Given the description of an element on the screen output the (x, y) to click on. 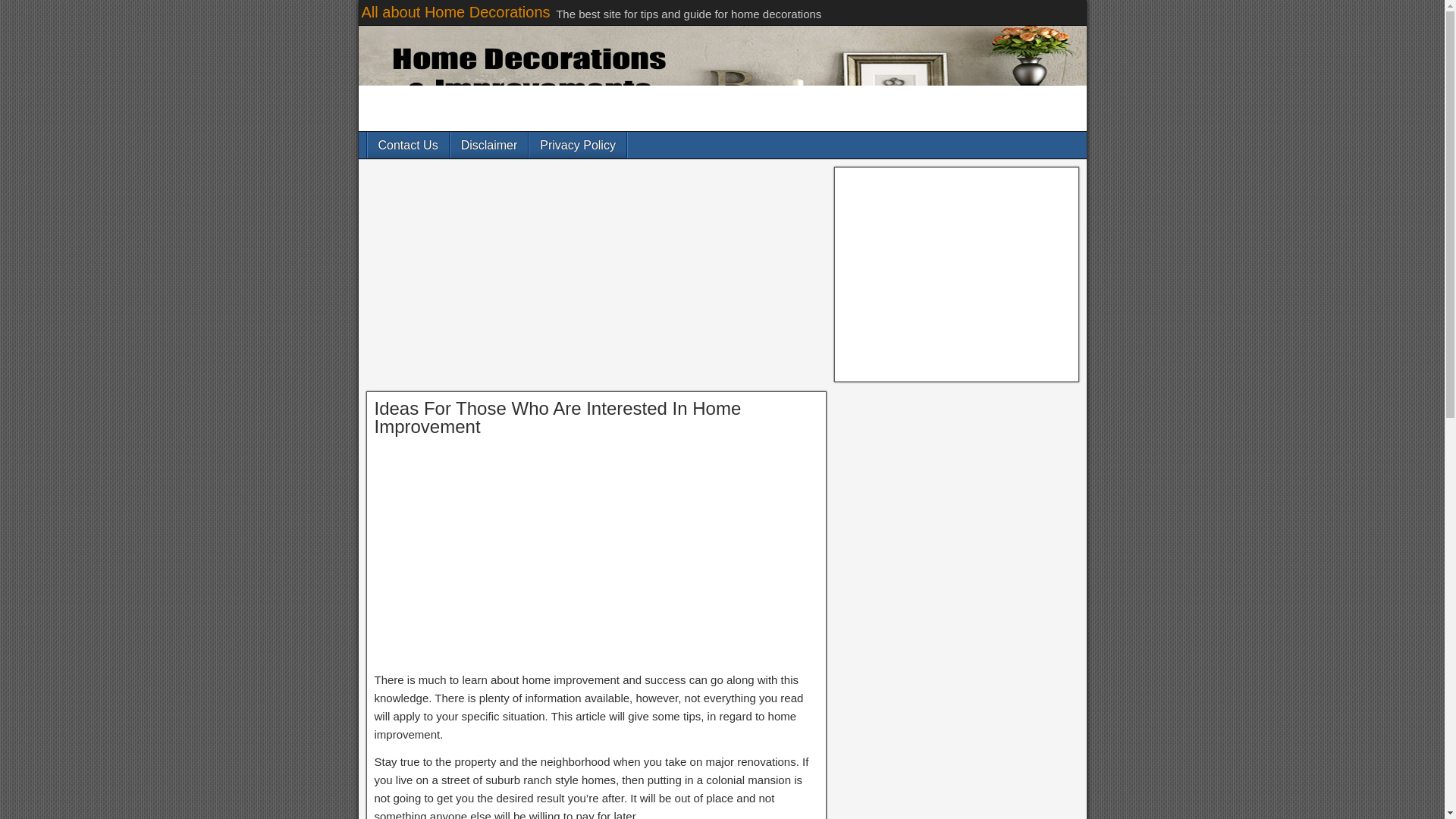
Advertisement (596, 558)
Advertisement (596, 278)
Contact Us (407, 144)
Ideas For Those Who Are Interested In Home Improvement (557, 417)
All about Home Decorations (455, 12)
Privacy Policy (577, 144)
Disclaimer (488, 144)
Advertisement (956, 274)
